Given the description of an element on the screen output the (x, y) to click on. 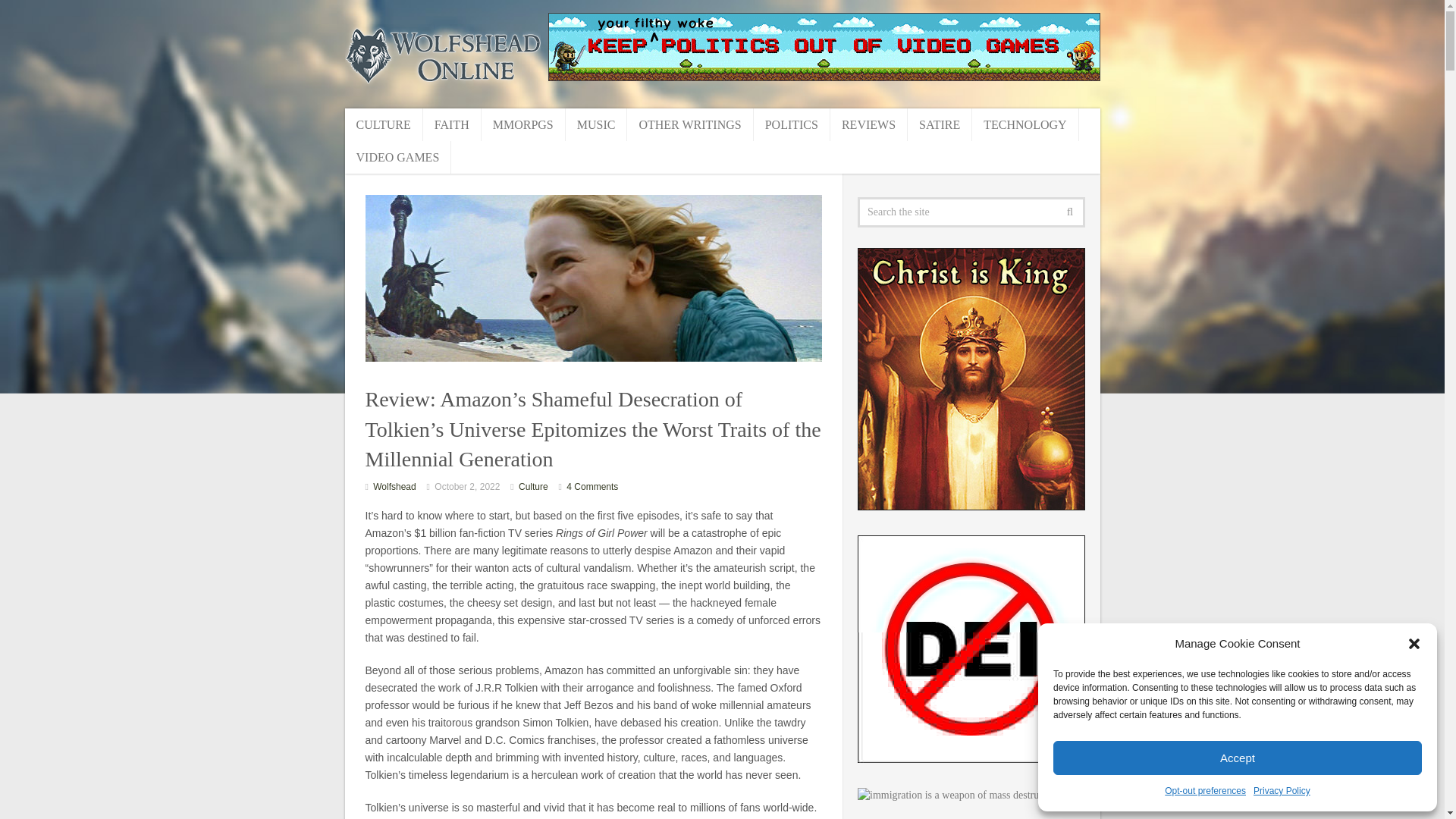
Opt-out preferences (1205, 791)
Culture (533, 486)
VIDEO GAMES (397, 156)
4 Comments (591, 486)
CULTURE (382, 124)
SATIRE (939, 124)
MUSIC (596, 124)
Privacy Policy (1281, 791)
REVIEWS (868, 124)
OTHER WRITINGS (689, 124)
Posts by Wolfshead (393, 486)
FAITH (452, 124)
POLITICS (791, 124)
Wolfshead (393, 486)
TECHNOLOGY (1025, 124)
